Given the description of an element on the screen output the (x, y) to click on. 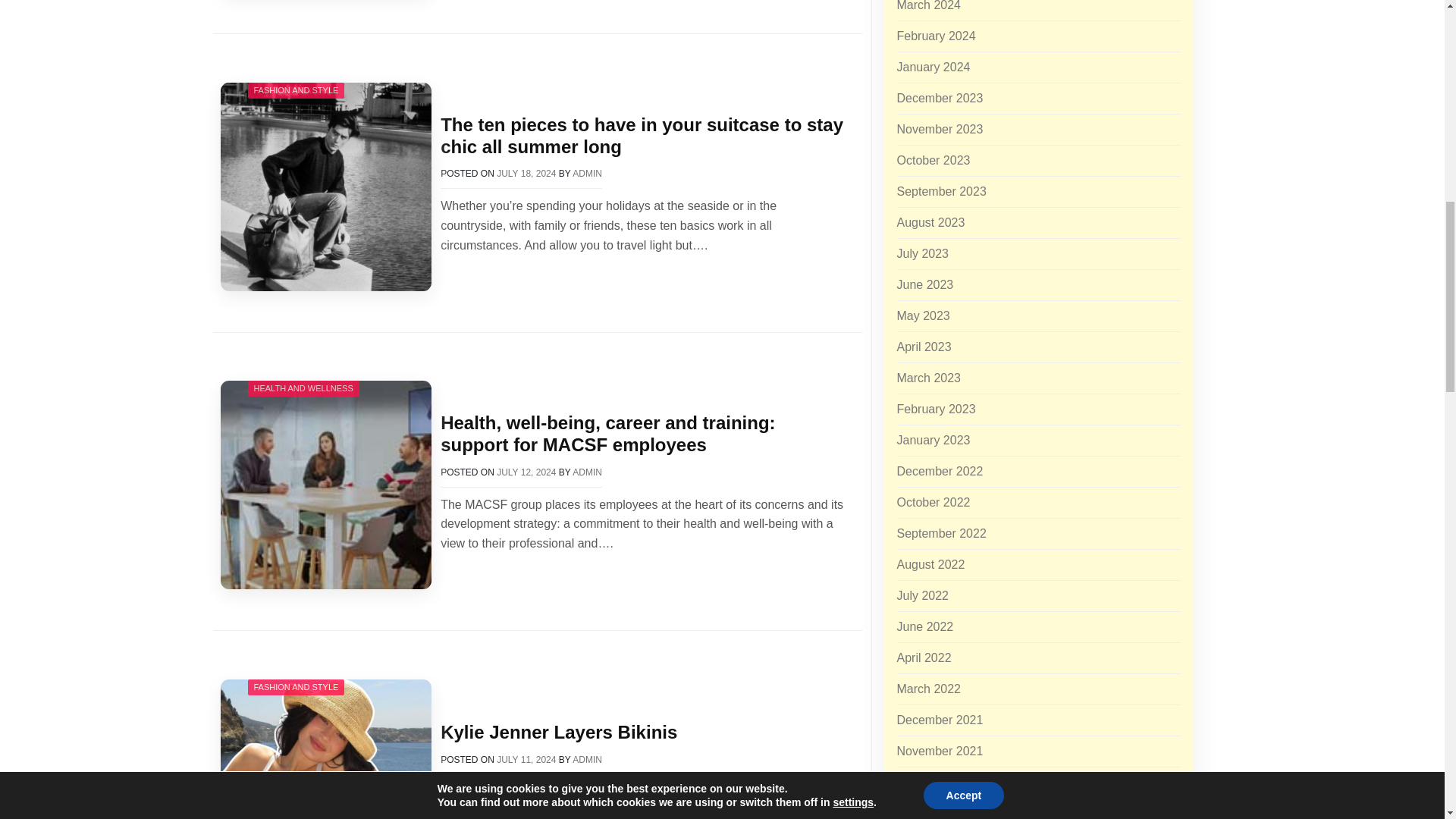
ADMIN (587, 173)
FASHION AND STYLE (295, 687)
FASHION AND STYLE (295, 90)
HEALTH AND WELLNESS (302, 388)
JULY 18, 2024 (526, 173)
JULY 12, 2024 (526, 471)
ADMIN (587, 471)
